Given the description of an element on the screen output the (x, y) to click on. 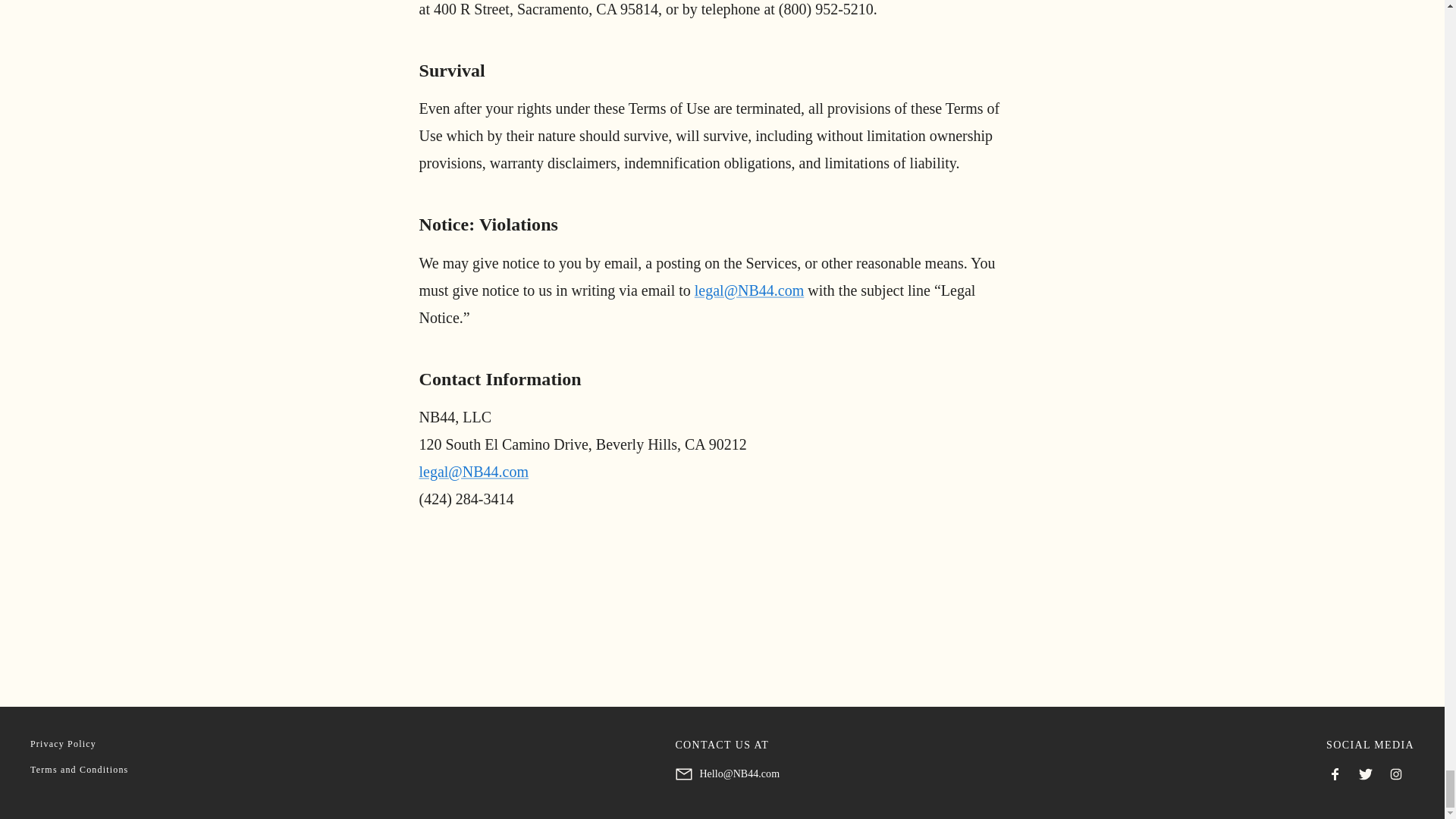
Terms and Conditions (79, 769)
Privacy Policy (63, 743)
